Given the description of an element on the screen output the (x, y) to click on. 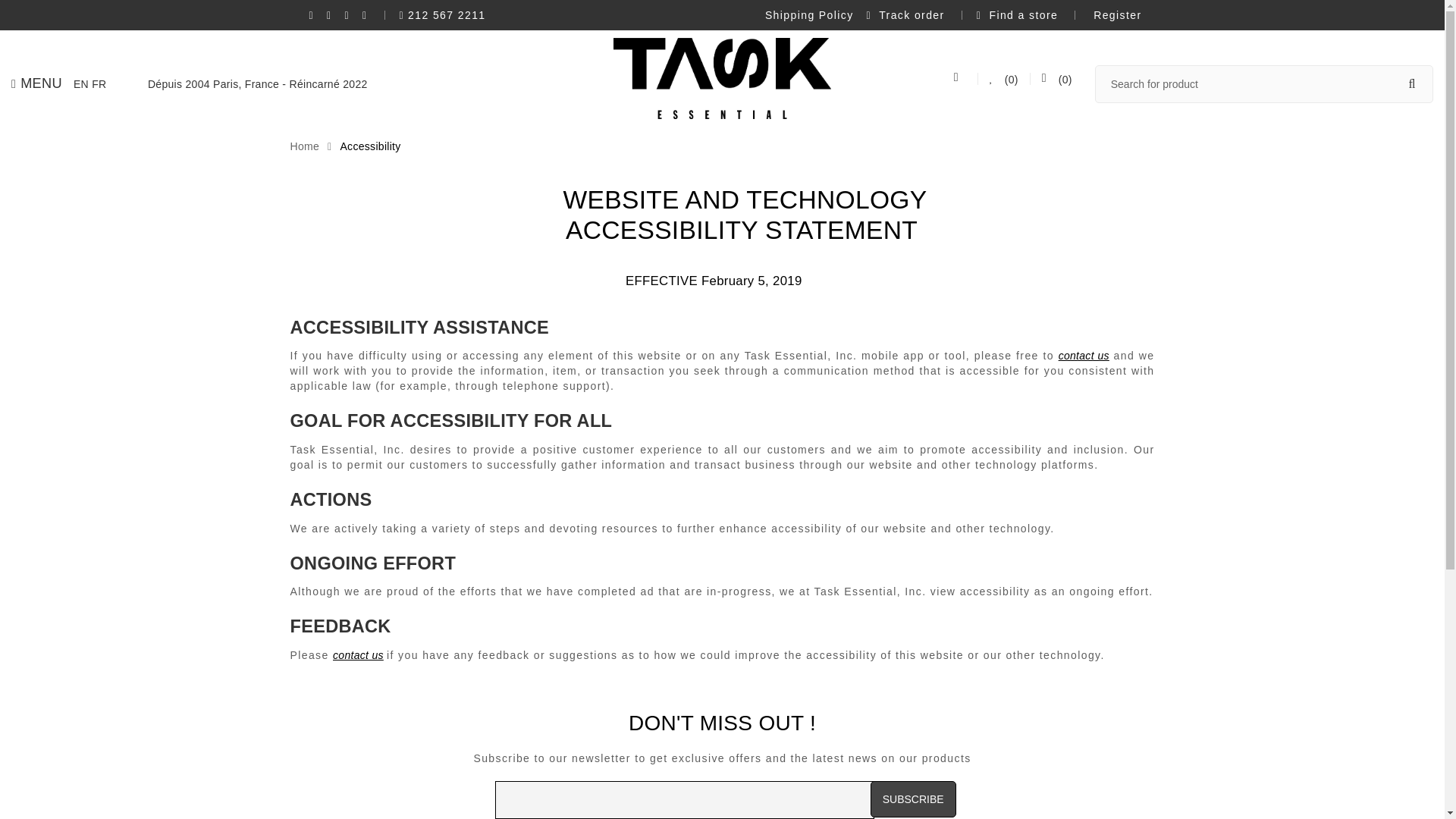
English (81, 83)
French (98, 83)
Track order (905, 15)
Shipping Policy (809, 15)
Home page link (303, 145)
Find a store (1017, 15)
Subscribe (913, 799)
Register (1115, 15)
212 567 2211 (442, 15)
